Given the description of an element on the screen output the (x, y) to click on. 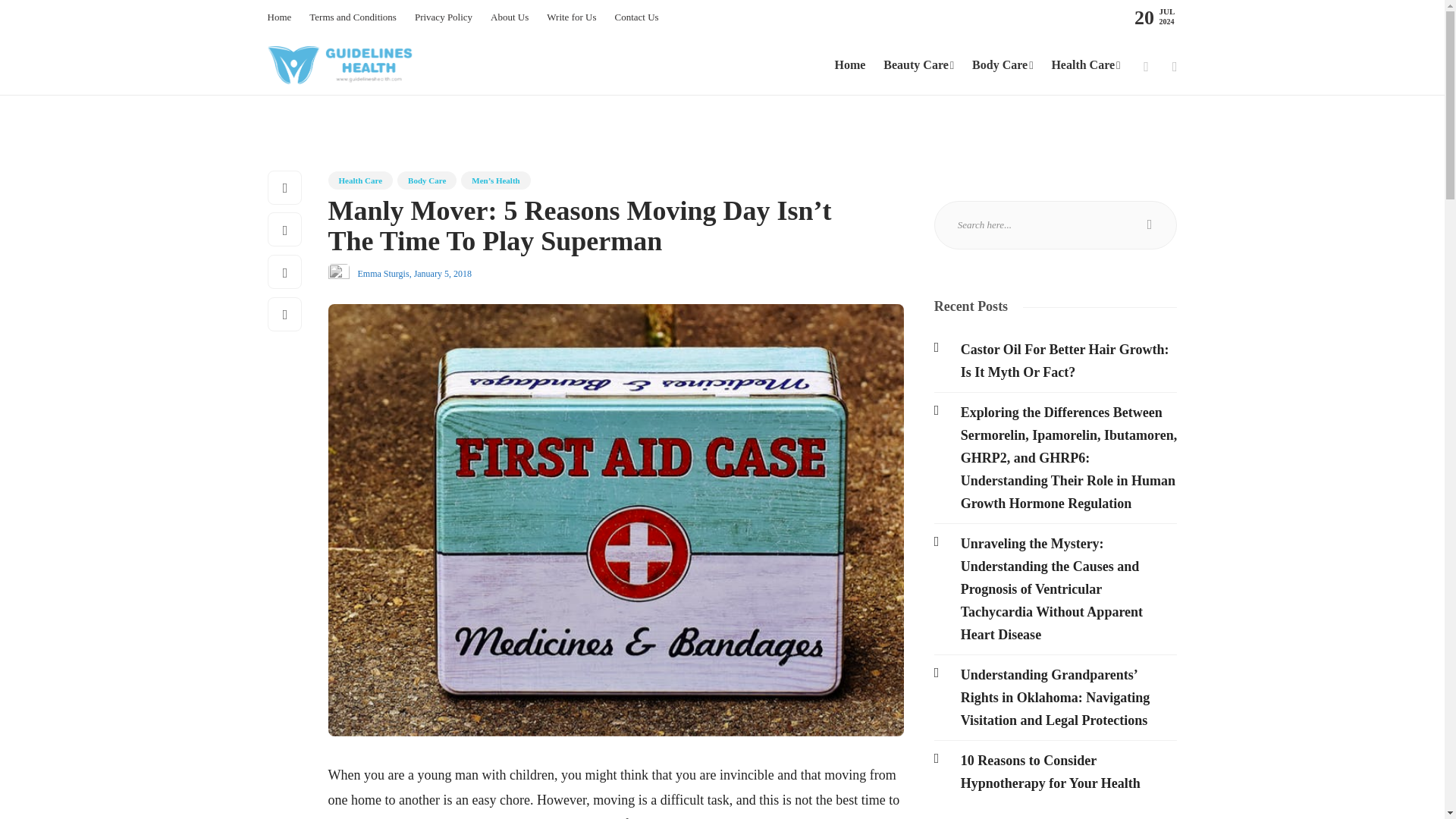
About Us (509, 17)
Contact Us (636, 17)
Privacy Policy (442, 17)
Write for Us (571, 17)
Terms and Conditions (352, 17)
Search text (1055, 224)
